Given the description of an element on the screen output the (x, y) to click on. 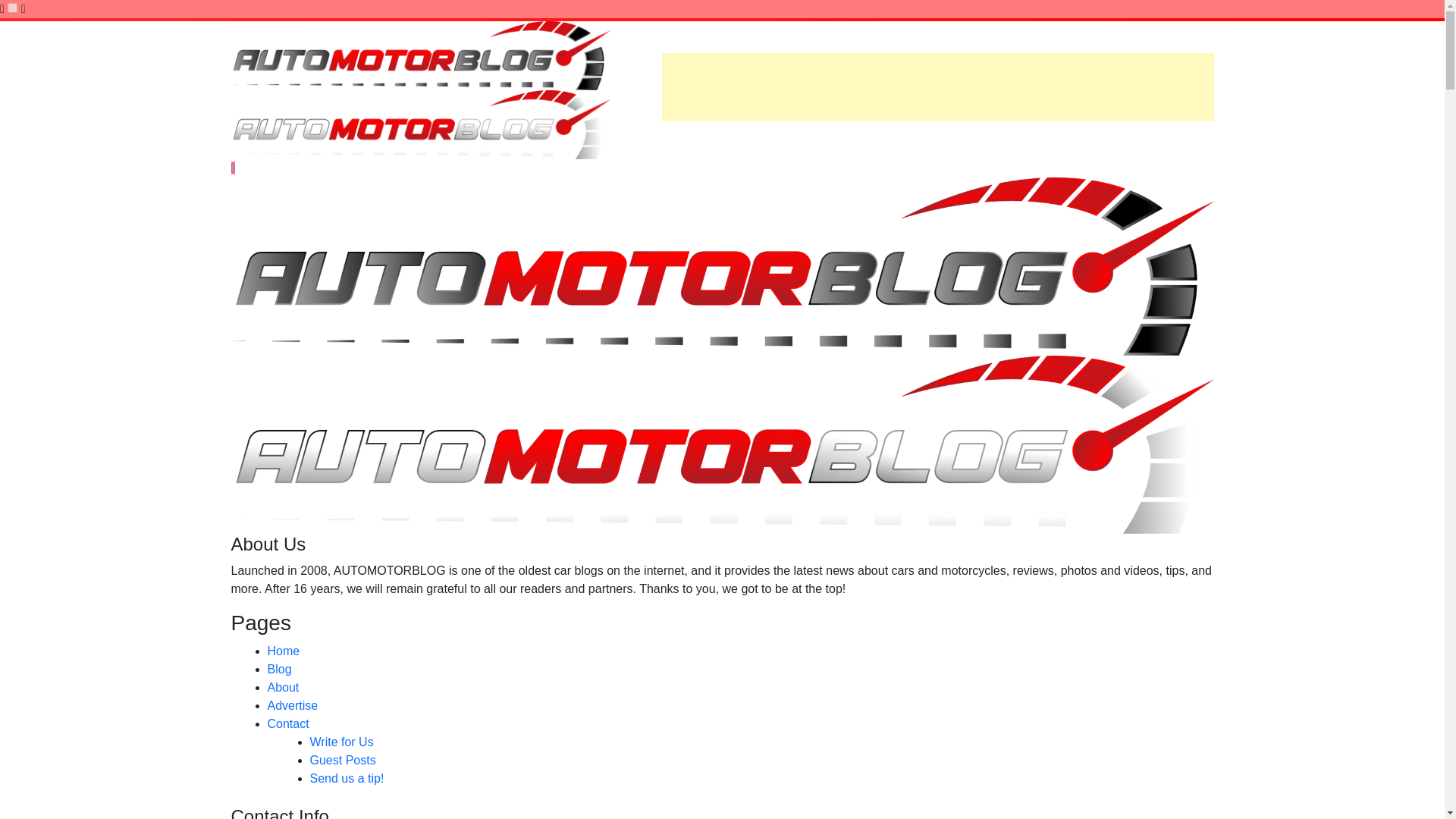
About (282, 686)
Advertise (291, 705)
Send us a tip! (346, 778)
on (12, 8)
Write for Us (340, 741)
Home (282, 650)
Guest Posts (341, 759)
Blog (278, 668)
Contact (287, 723)
